Given the description of an element on the screen output the (x, y) to click on. 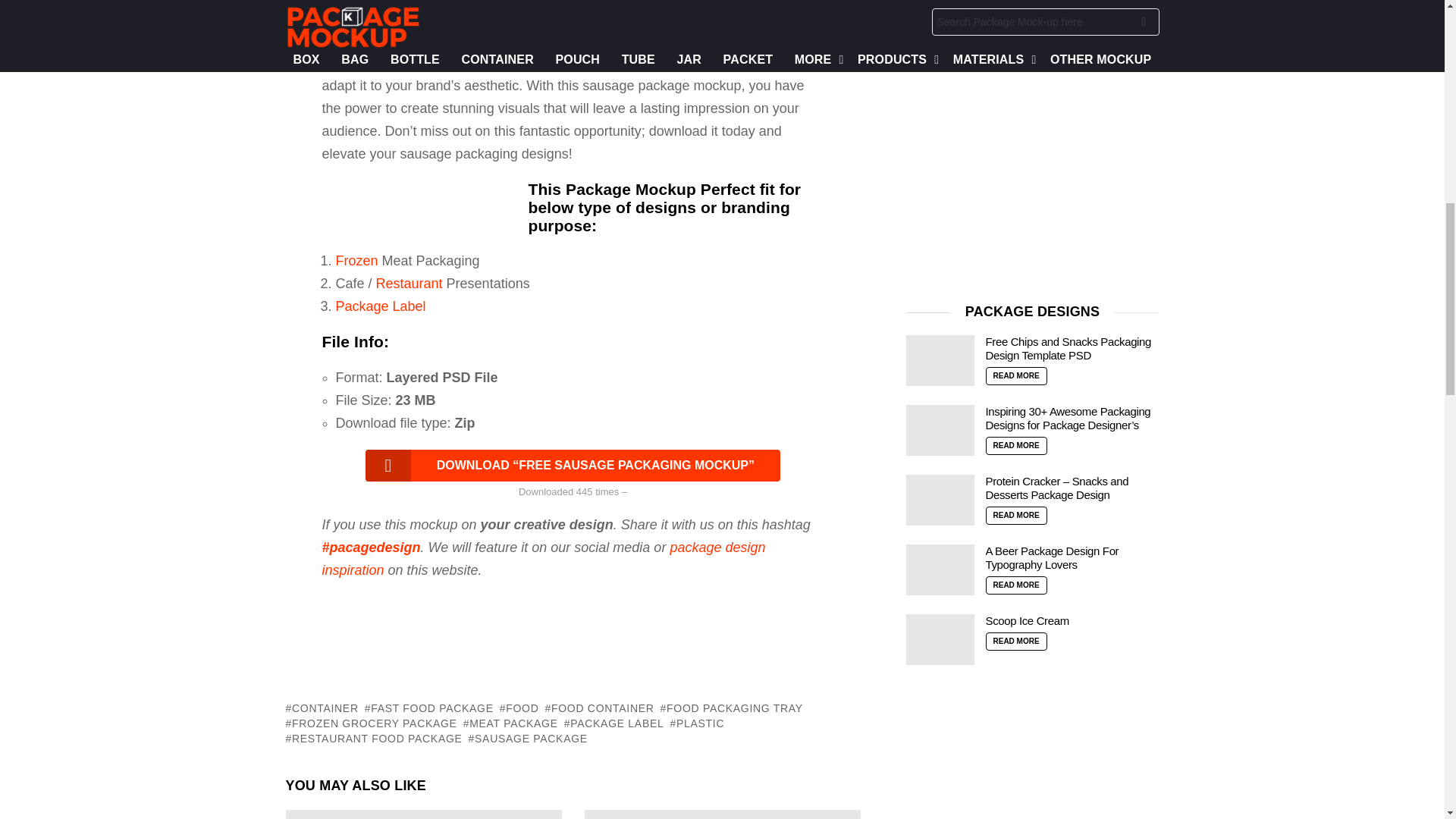
Sausage Meat Packaging Tray Mockup (721, 814)
Sausage Package Mockup Free (422, 814)
